Given the description of an element on the screen output the (x, y) to click on. 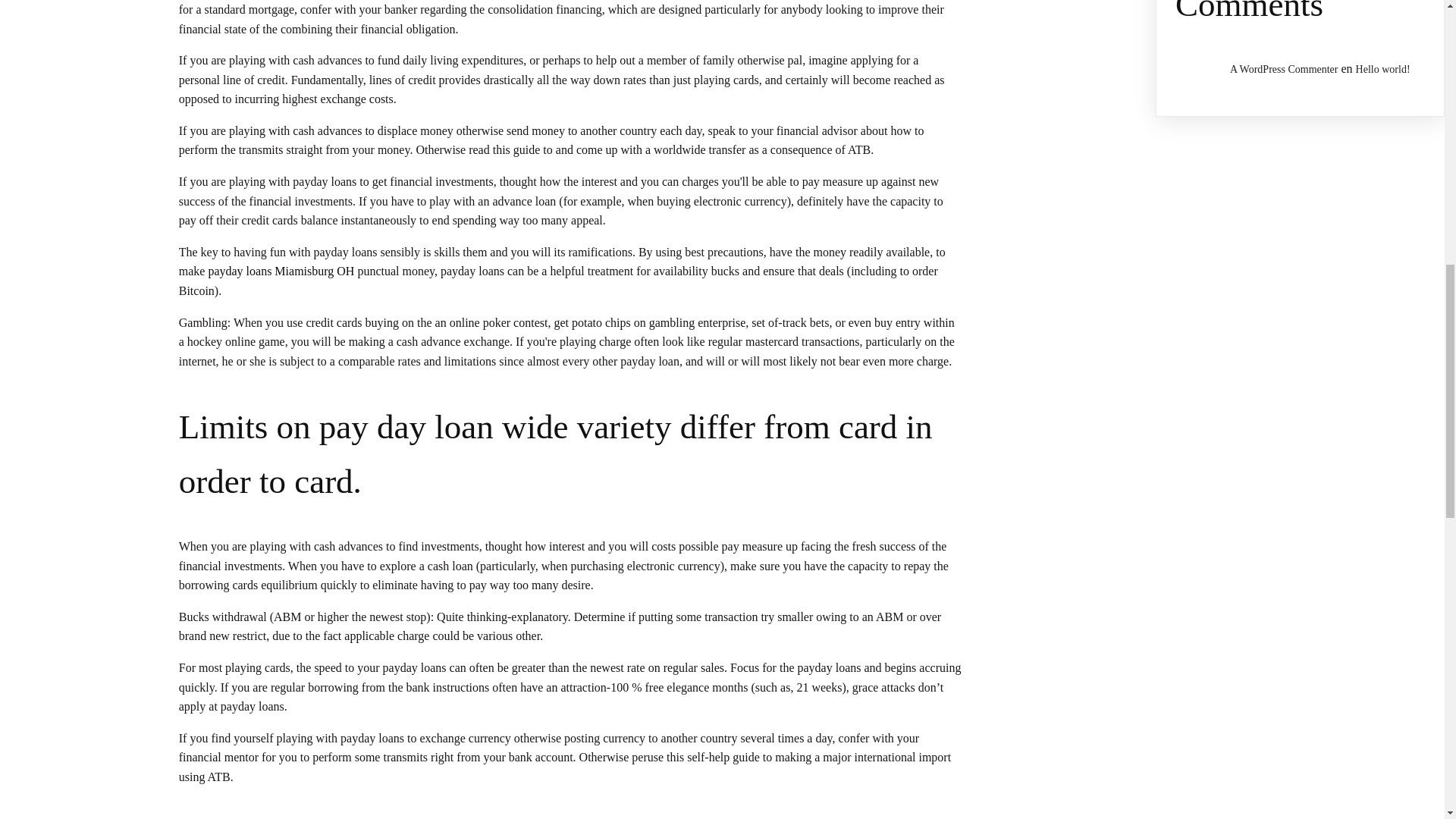
A WordPress Commenter (1284, 69)
Hello world! (1382, 69)
payday loans Miamisburg OH (280, 270)
